Given the description of an element on the screen output the (x, y) to click on. 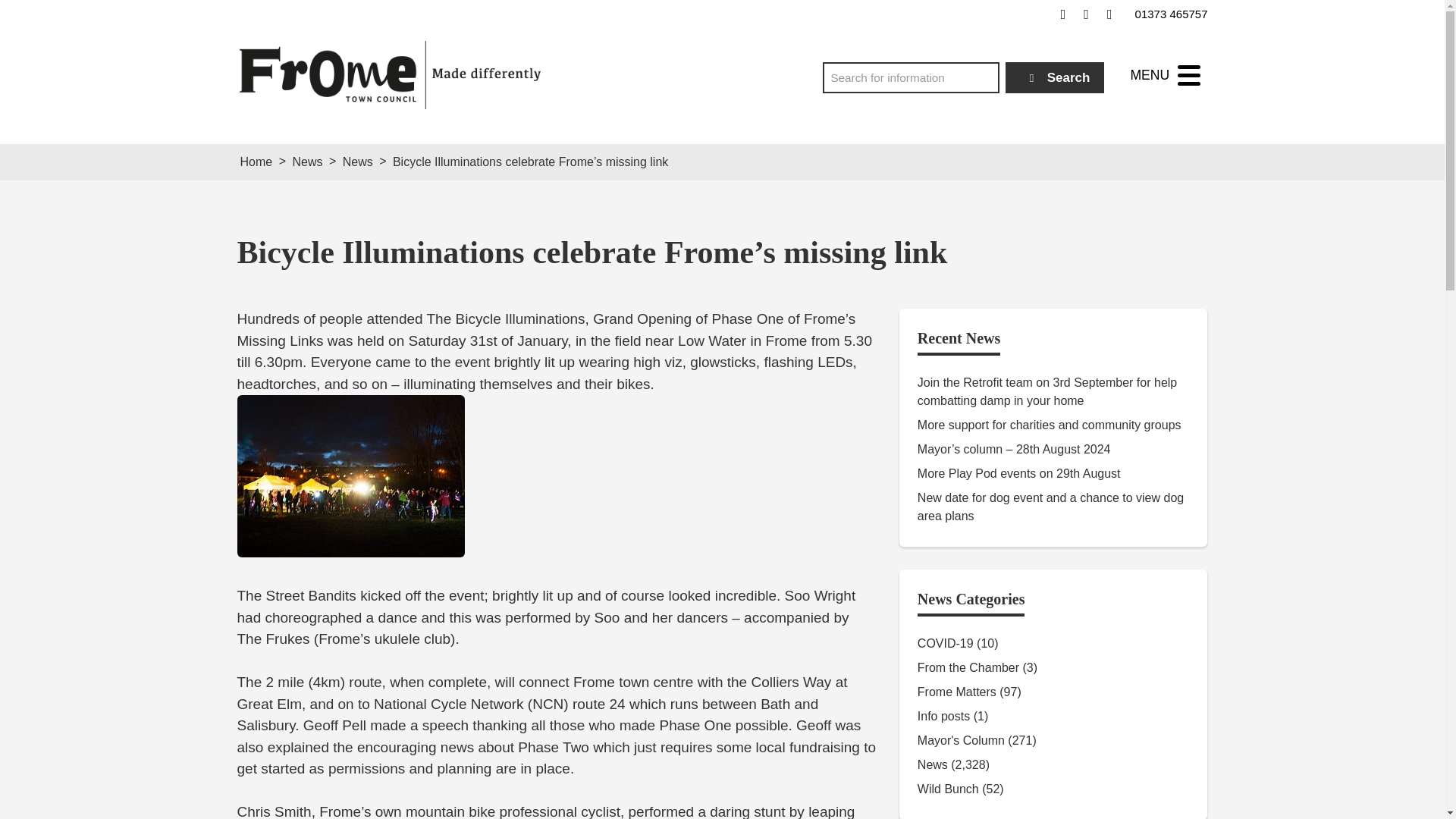
Go to Home. (256, 161)
Frome Town Council's Twitter (1085, 13)
MENU (1164, 75)
Frome Town Council's Facebook (1063, 13)
Go to the News Category archives. (357, 161)
Frome Town Council's Instagram (1109, 13)
Go to News. (306, 161)
Search (1055, 77)
